Given the description of an element on the screen output the (x, y) to click on. 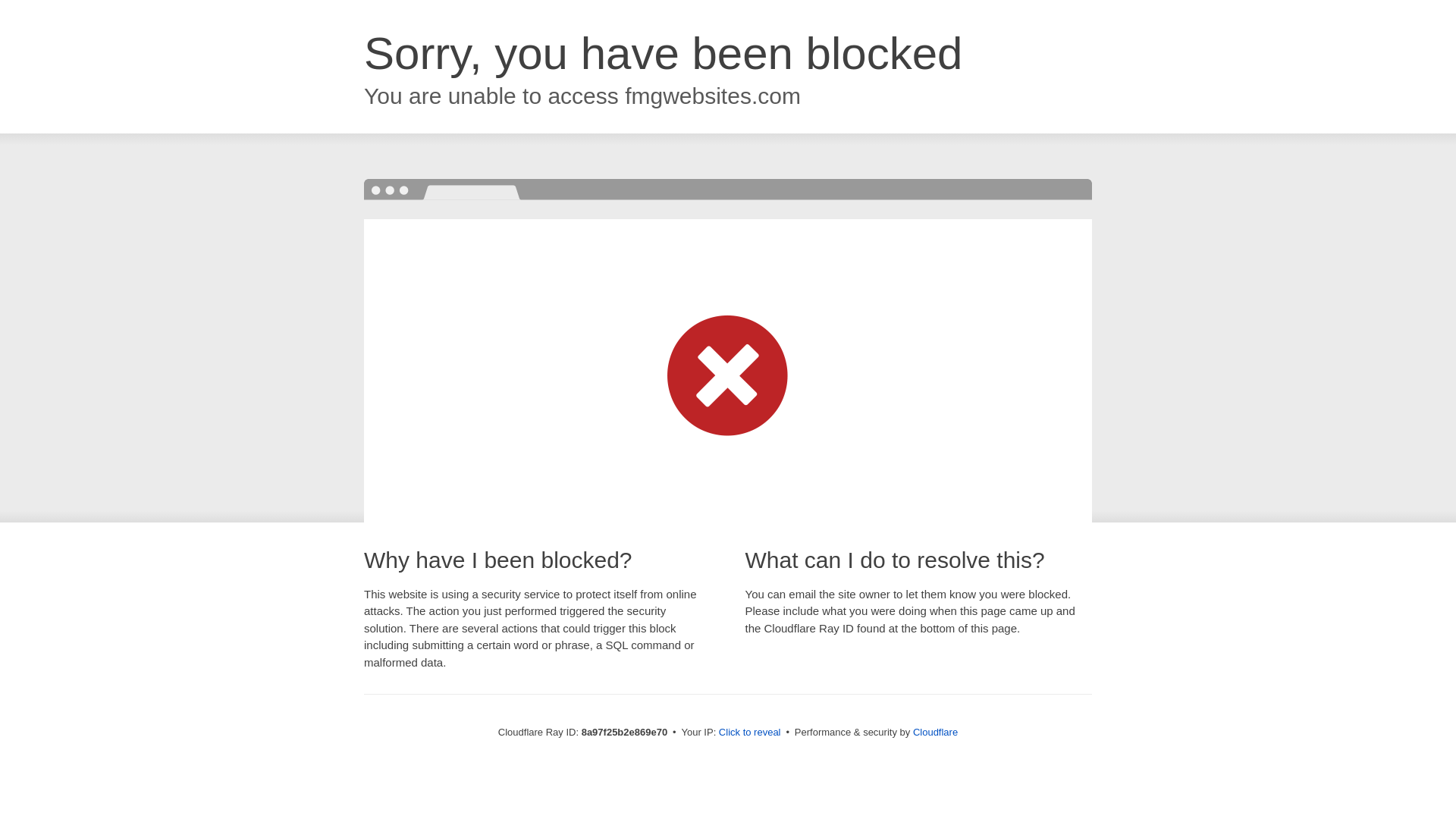
Cloudflare (935, 731)
Click to reveal (749, 732)
